Given the description of an element on the screen output the (x, y) to click on. 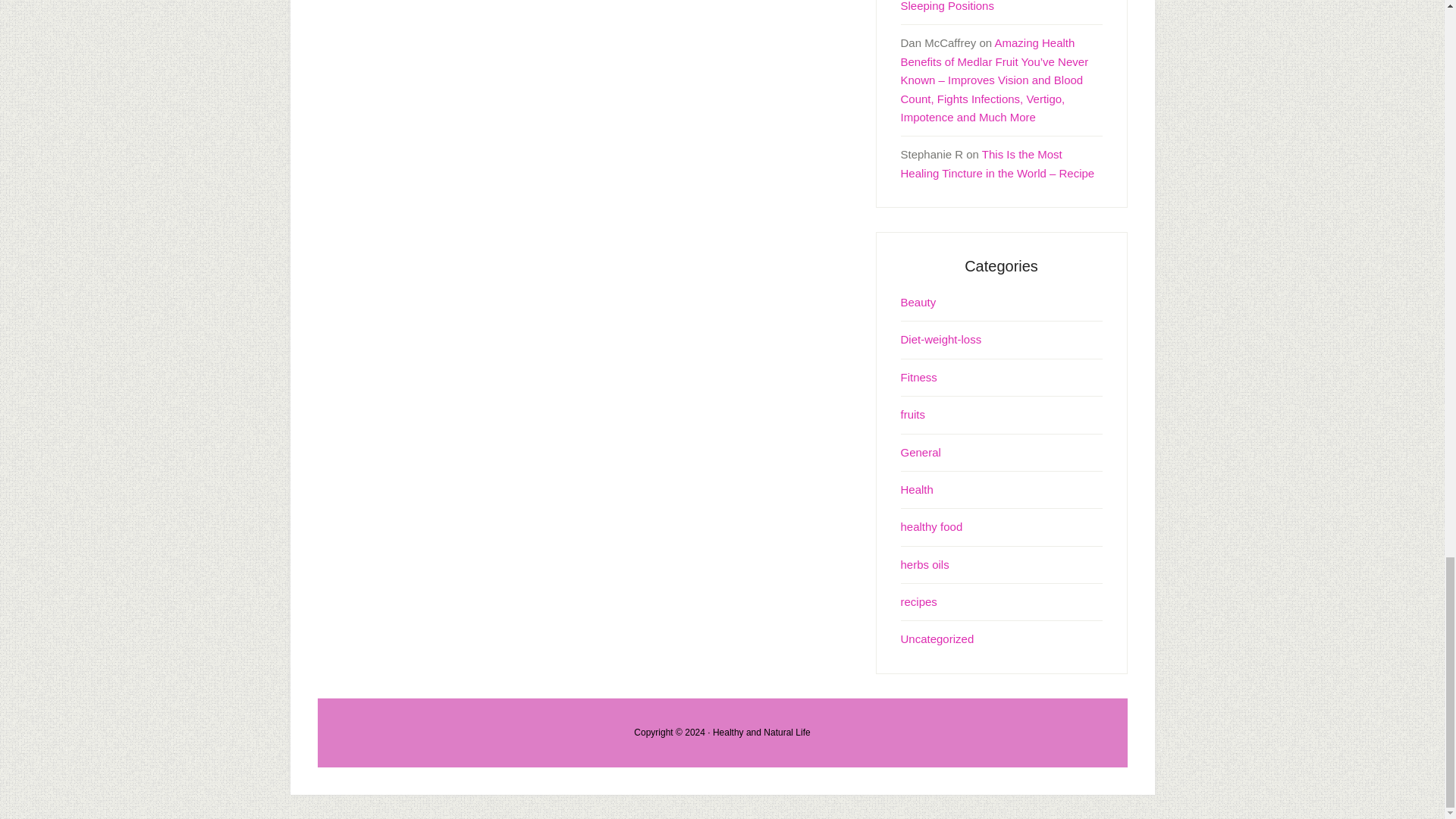
Fitness (919, 377)
Beauty (918, 301)
Diet-weight-loss (941, 338)
